Given the description of an element on the screen output the (x, y) to click on. 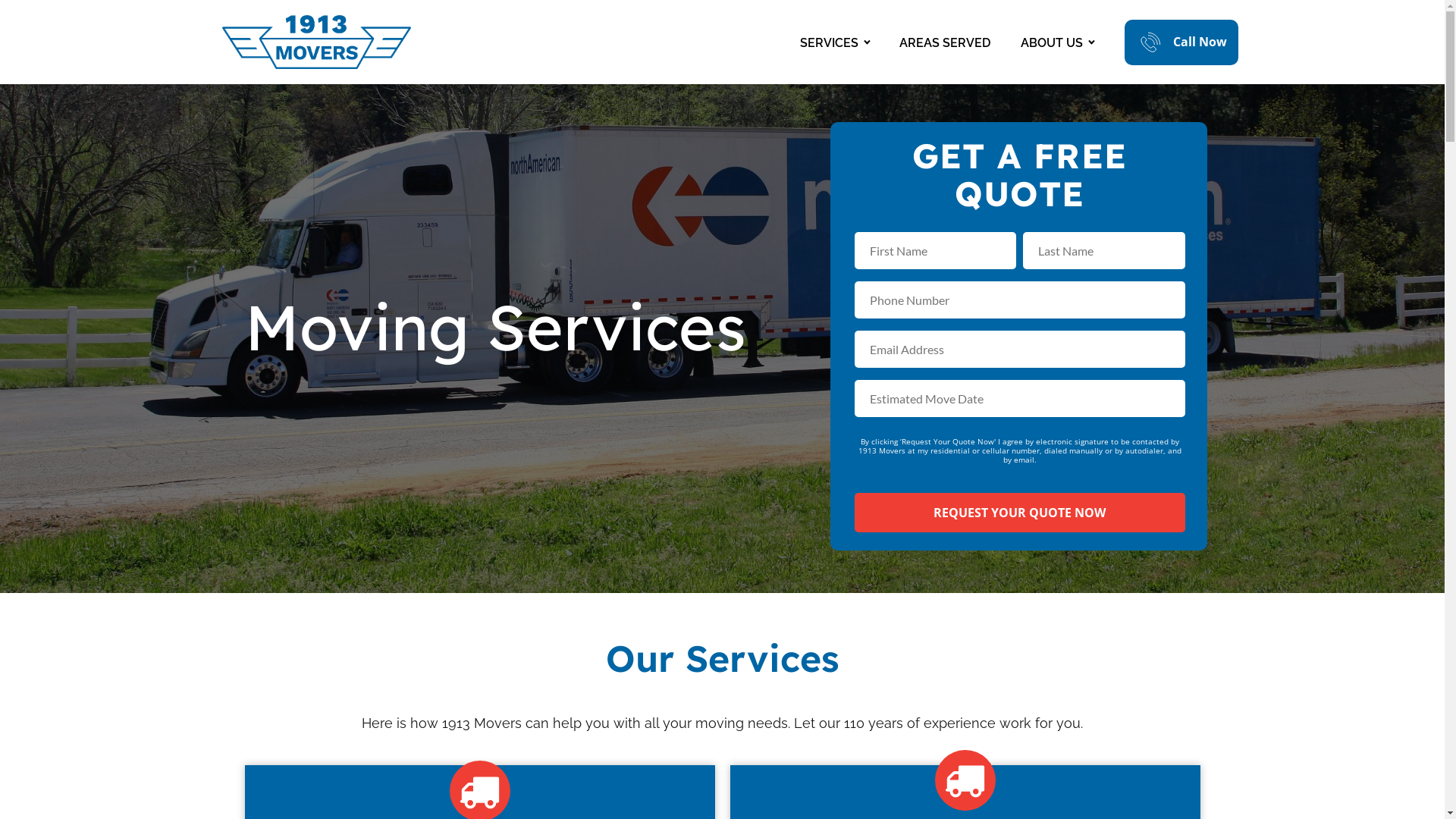
AREAS SERVED Element type: text (944, 41)
REQUEST YOUR QUOTE NOW Element type: text (1018, 512)
Call Now Element type: text (1180, 42)
SERVICES Element type: text (834, 41)
ABOUT US Element type: text (1056, 41)
